Given the description of an element on the screen output the (x, y) to click on. 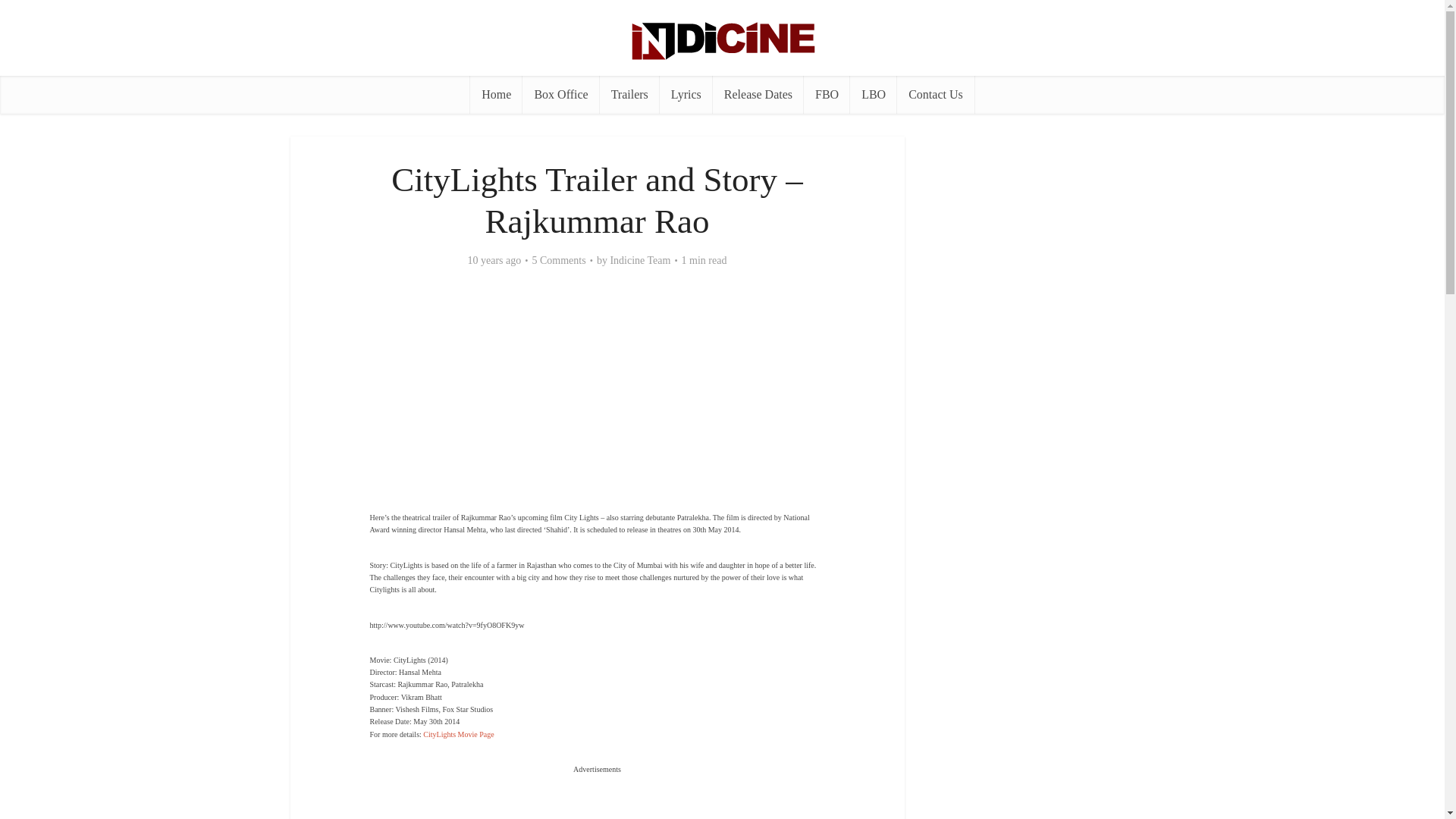
Home (496, 94)
CityLights Movie Page (458, 734)
Contact Us (935, 94)
Release Dates (758, 94)
FBO (826, 94)
LBO (873, 94)
Indicine Team (639, 260)
Box Office (560, 94)
Lyrics (686, 94)
5 Comments (559, 260)
Trailers (629, 94)
